Given the description of an element on the screen output the (x, y) to click on. 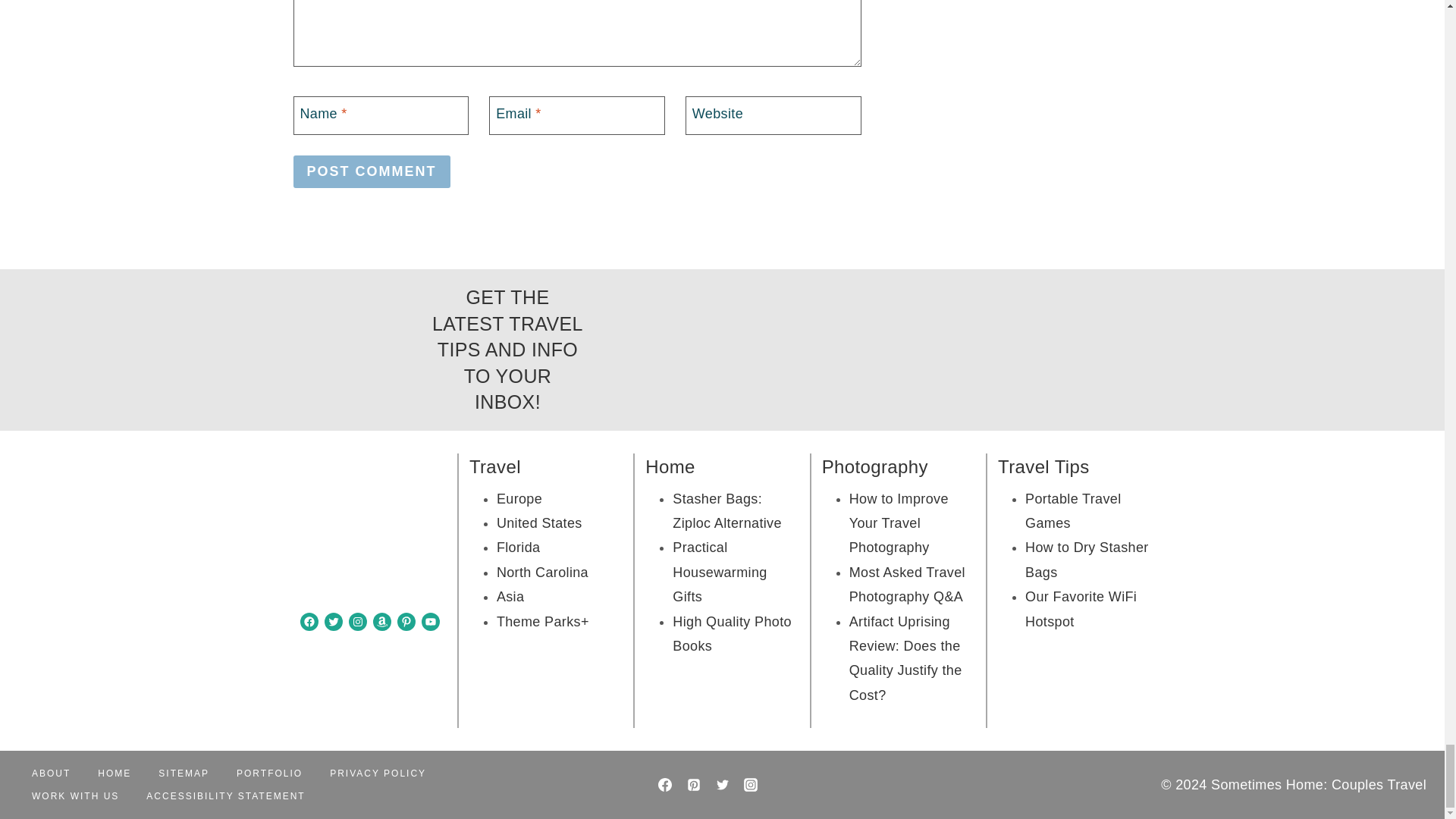
Post Comment (370, 171)
